Given the description of an element on the screen output the (x, y) to click on. 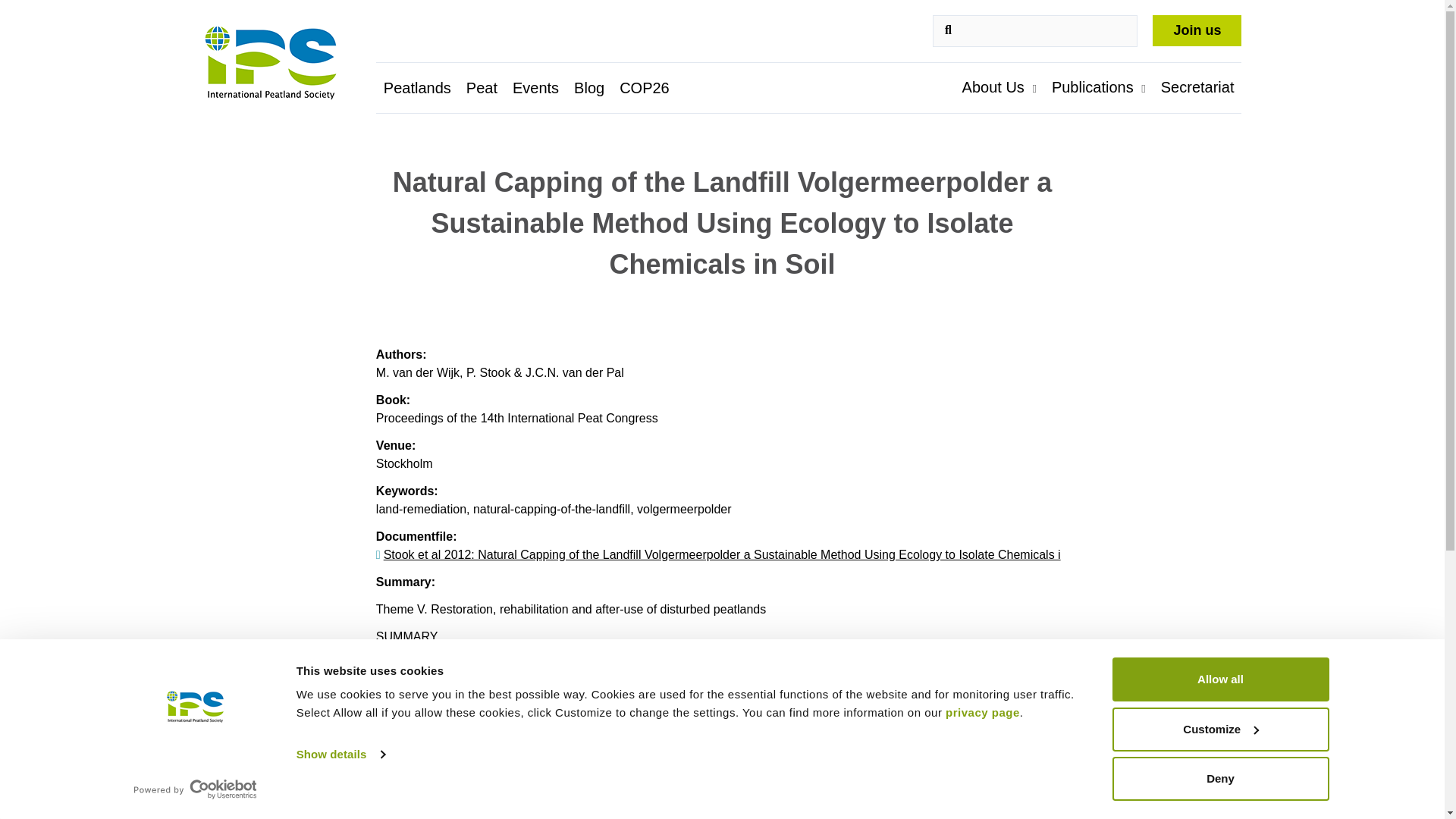
Customize (1219, 728)
Deny (1219, 778)
Show details (340, 753)
International Peatland Society (284, 64)
Join us (1197, 30)
privacy page (982, 712)
Allow all (1219, 679)
